Given the description of an element on the screen output the (x, y) to click on. 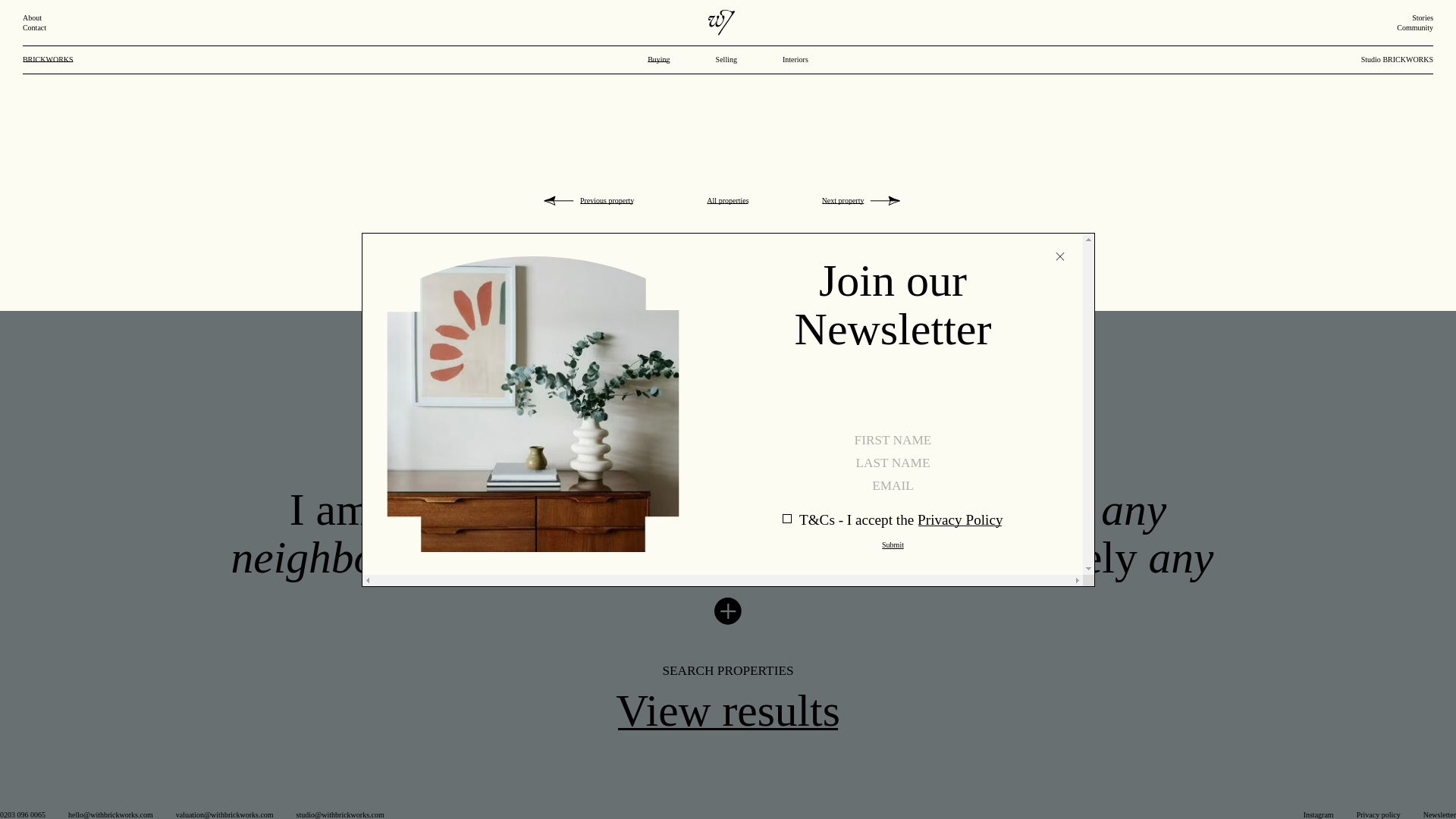
View results (727, 711)
